Given the description of an element on the screen output the (x, y) to click on. 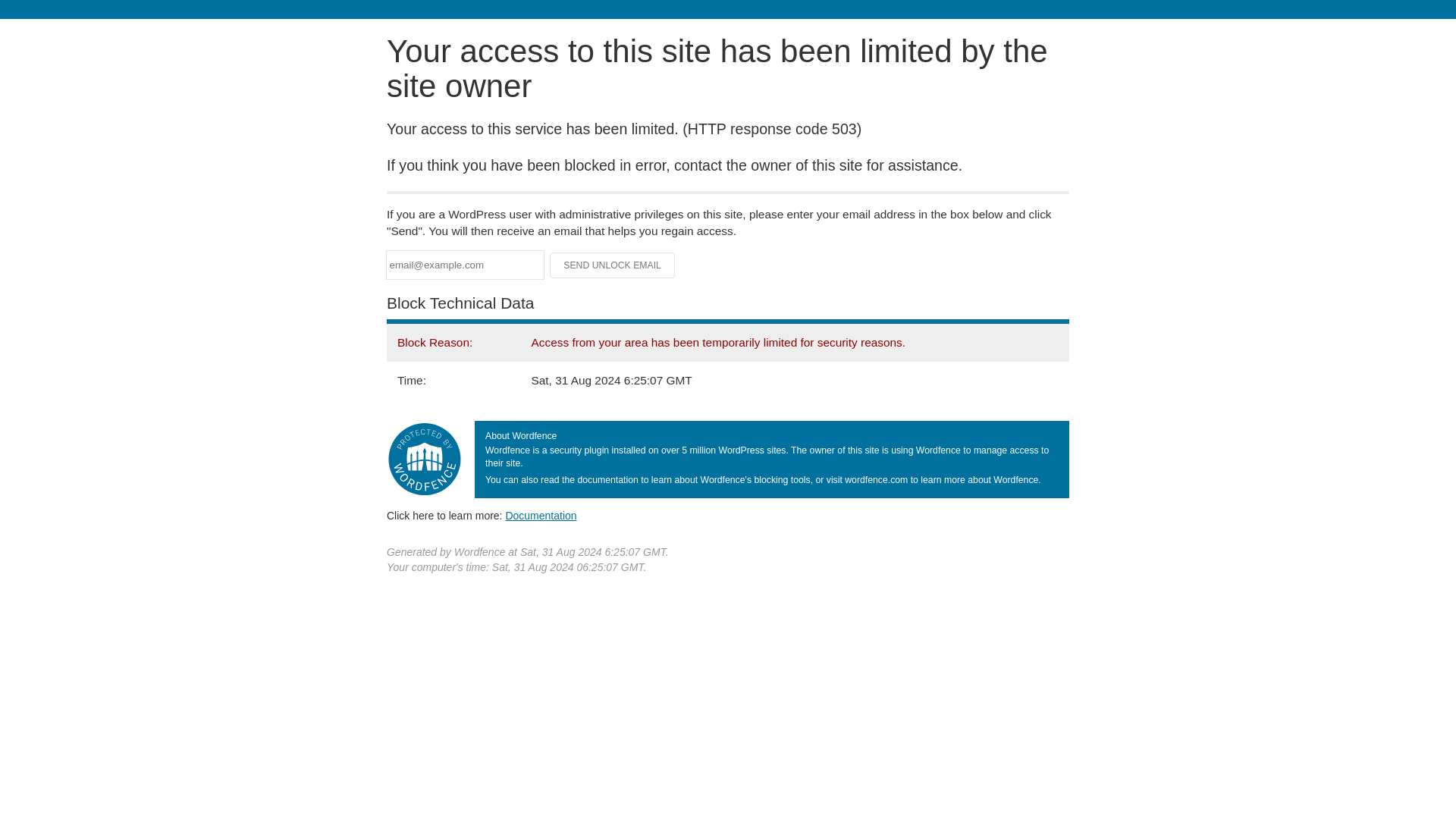
Documentation (540, 515)
Send Unlock Email (612, 265)
Send Unlock Email (612, 265)
